Given the description of an element on the screen output the (x, y) to click on. 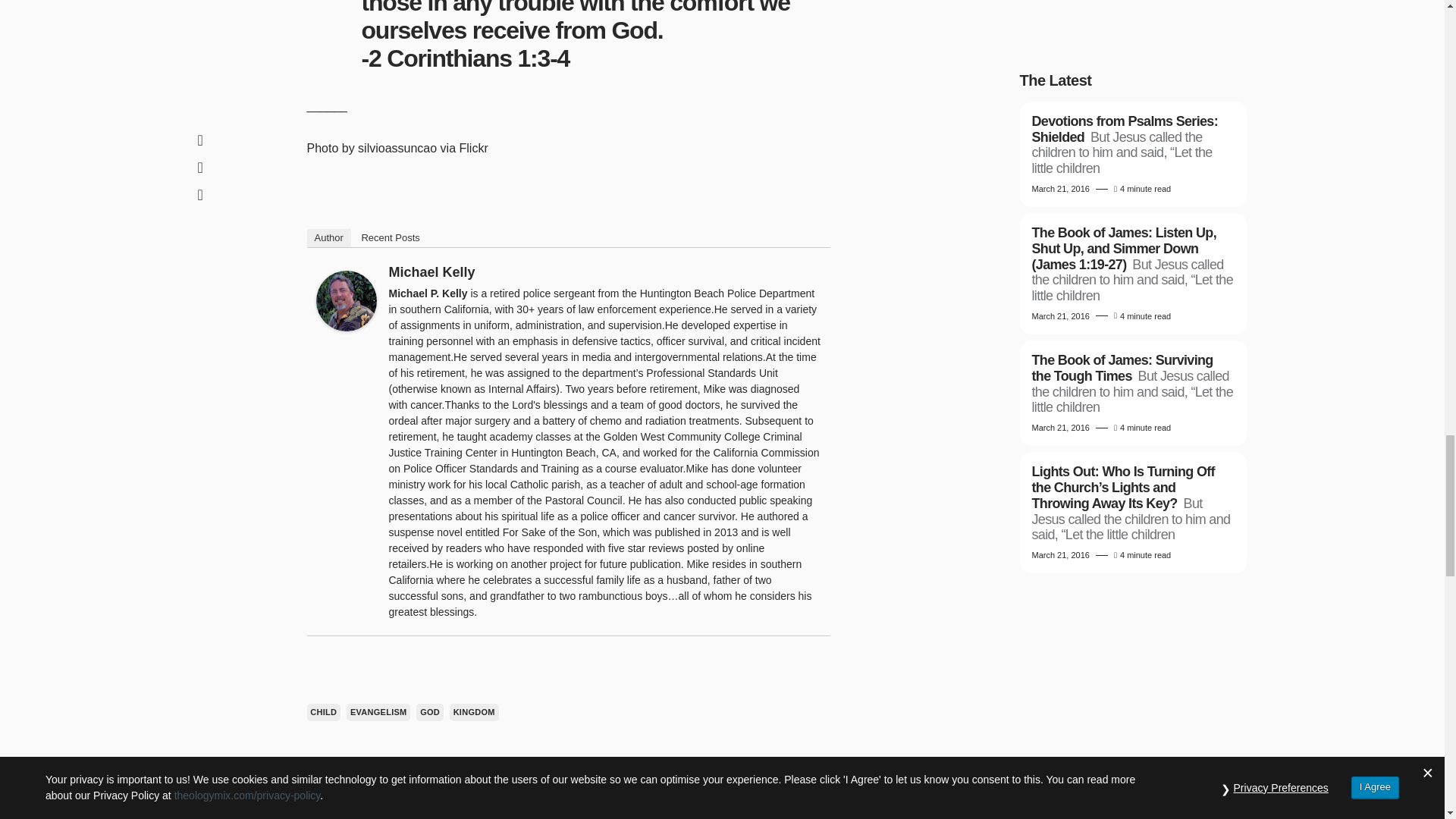
CHILD (322, 712)
Recent Posts (389, 238)
Author (327, 238)
Michael Kelly (431, 272)
Michael Kelly (345, 299)
silvioassuncao (397, 147)
